Given the description of an element on the screen output the (x, y) to click on. 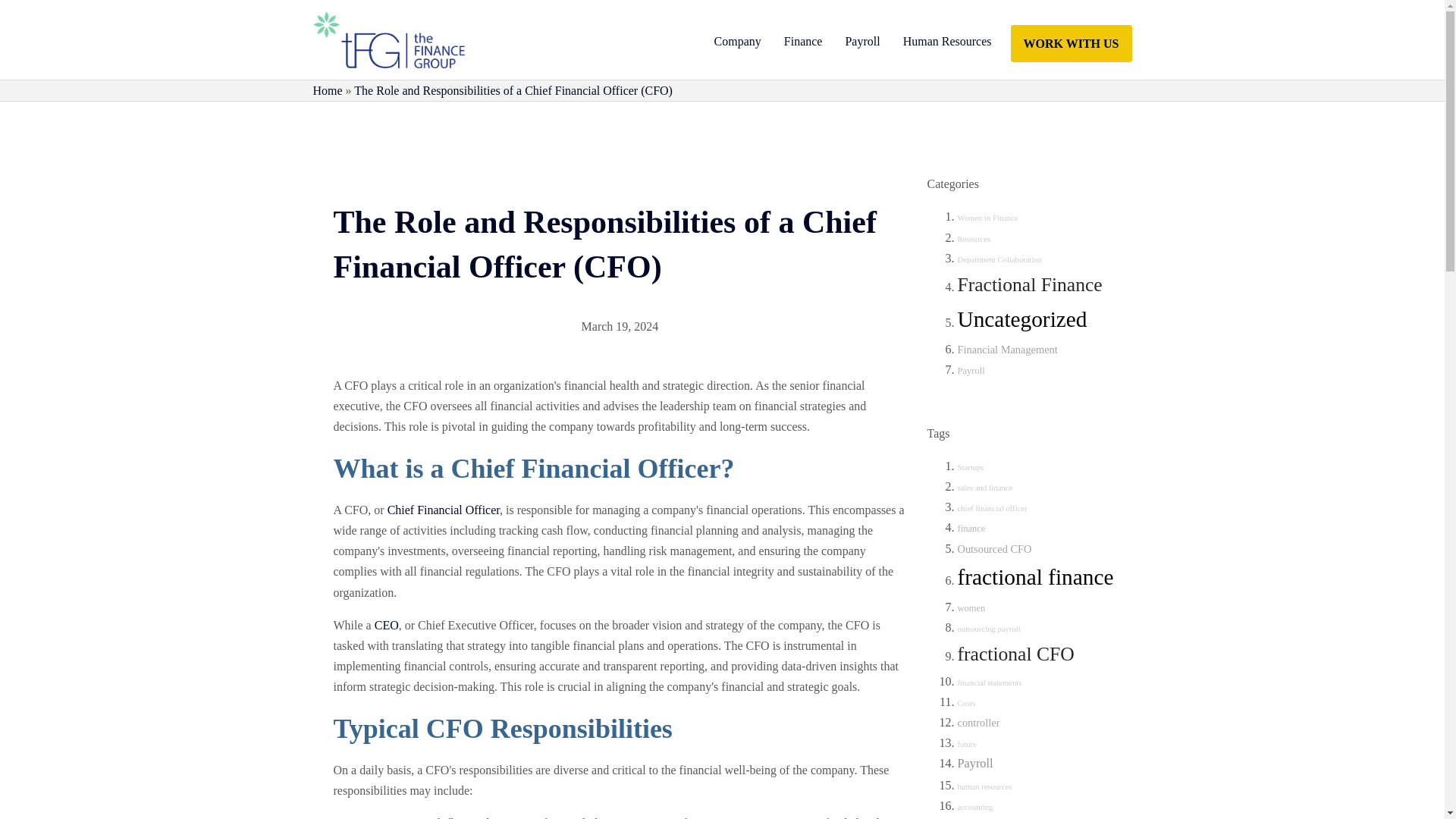
1 topics (973, 239)
Home (327, 90)
fractional finance (1034, 576)
women (970, 607)
1 topics (983, 488)
3 topics (970, 528)
Outsourced CFO (993, 548)
chief financial officer (991, 508)
human resources (983, 786)
1 topics (999, 259)
